Given the description of an element on the screen output the (x, y) to click on. 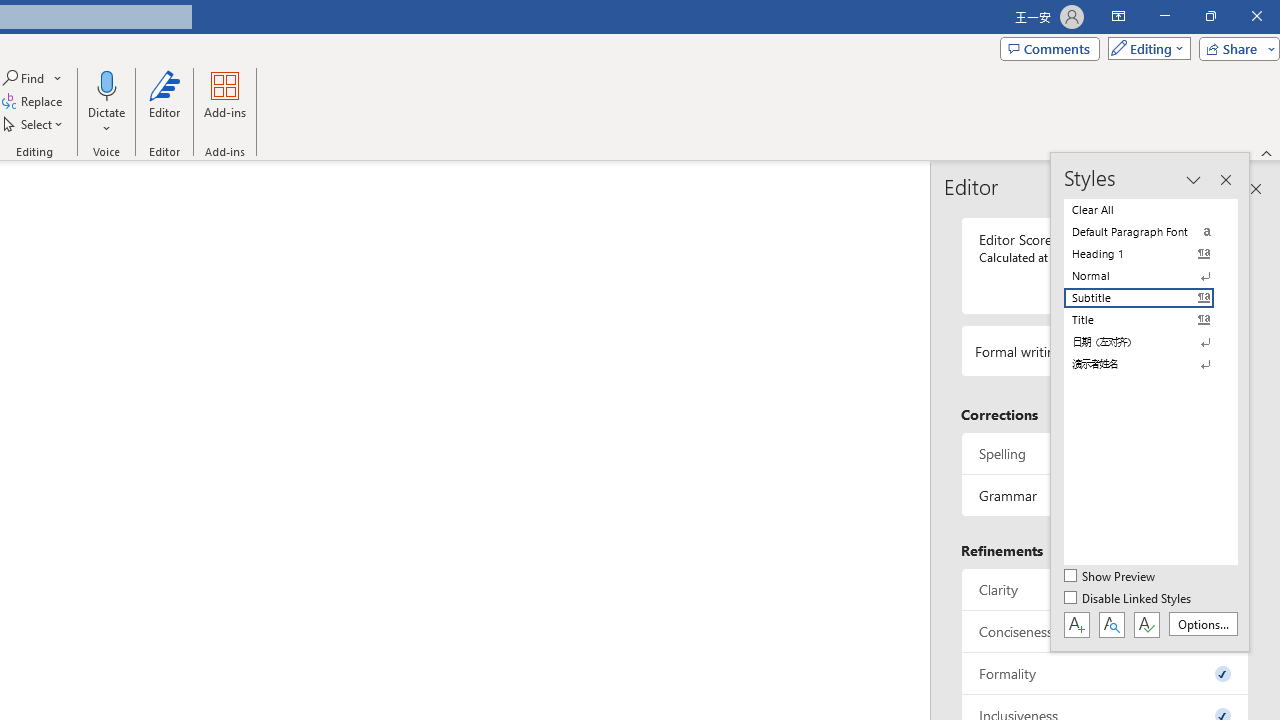
Grammar, 1 issue. Press space or enter to review items. (1105, 495)
Editing (1144, 47)
Default Paragraph Font (1150, 232)
Formality, 0 issues. Press space or enter to review items. (1105, 673)
Heading 1 (1150, 253)
Conciseness, 0 issues. Press space or enter to review items. (1105, 631)
Class: NetUIButton (1146, 624)
Options... (1202, 623)
